Given the description of an element on the screen output the (x, y) to click on. 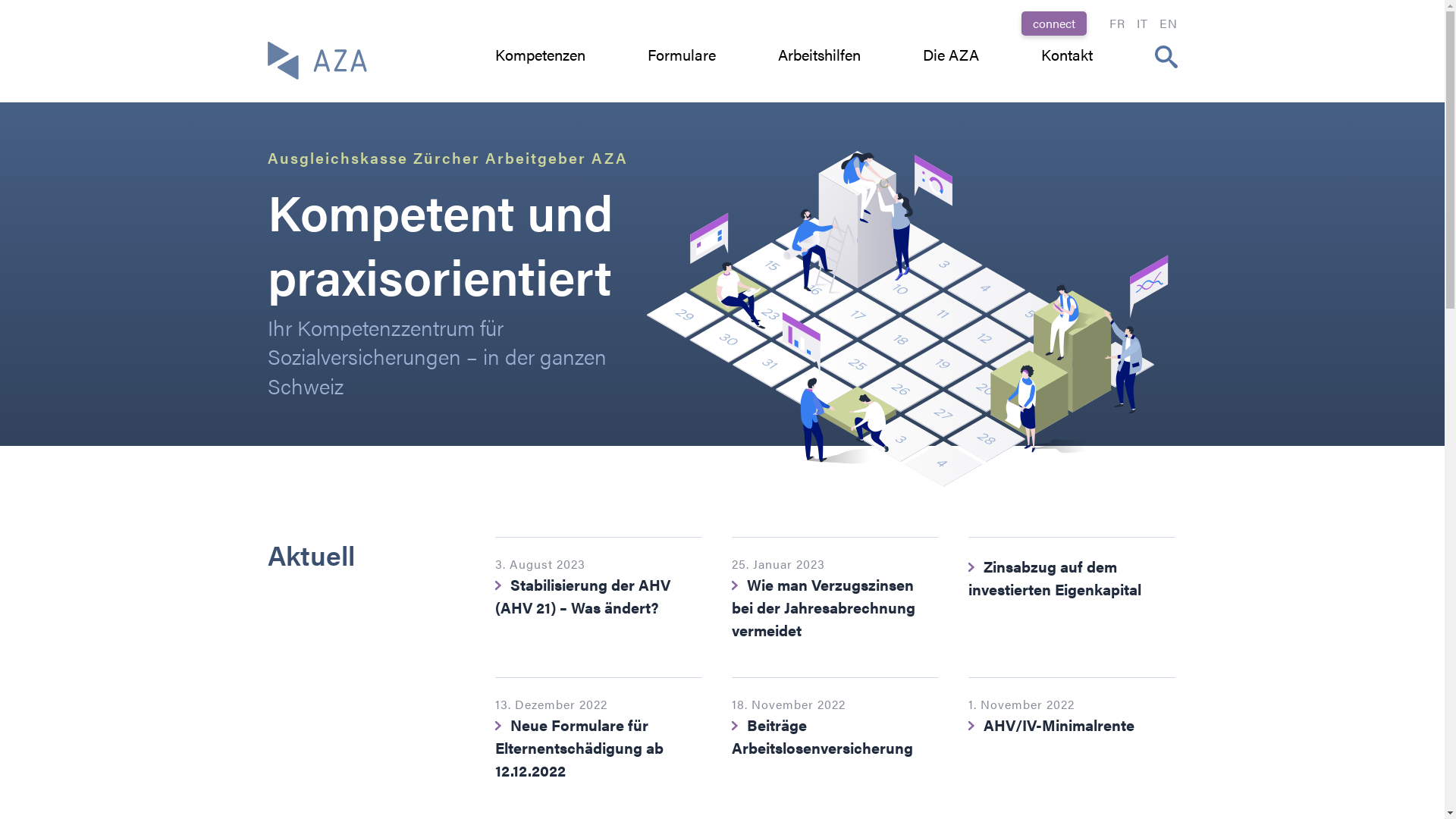
EN Element type: text (1167, 23)
Zinsabzug auf dem investierten Eigenkapital Element type: text (1071, 591)
connect Element type: text (1052, 23)
FR Element type: text (1116, 23)
IT Element type: text (1141, 23)
Die AZA Element type: text (950, 54)
Kompetenzen Element type: text (539, 54)
1. November 2022
AHV/IV-Minimalrente Element type: text (1071, 732)
Arbeitshilfen Element type: text (819, 54)
Formulare Element type: text (681, 54)
Zum Inhalt springen Element type: text (0, 0)
Suche Element type: text (31, 14)
Kontakt Element type: text (1066, 54)
